Given the description of an element on the screen output the (x, y) to click on. 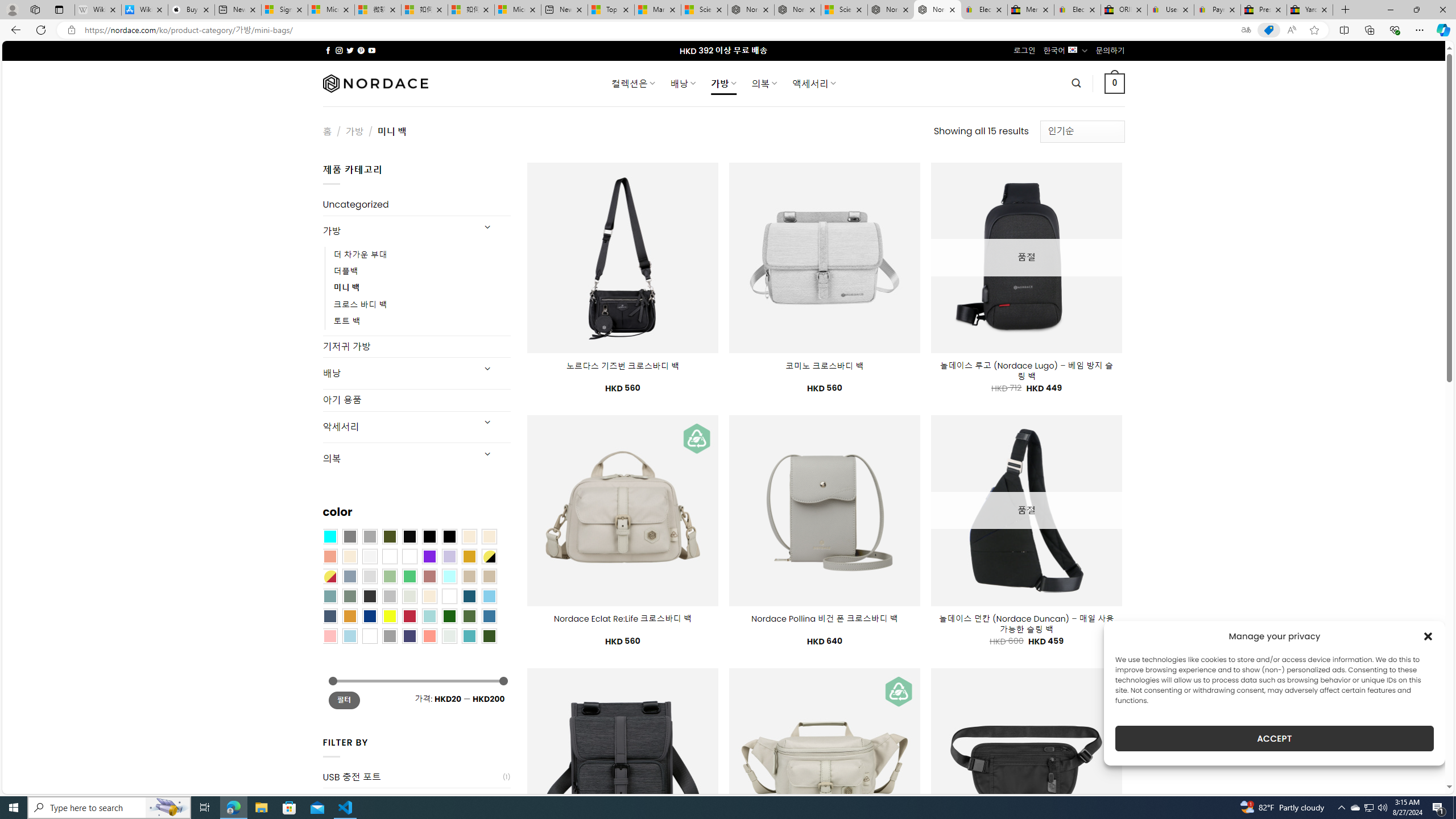
Uncategorized (416, 204)
Microsoft Services Agreement (330, 9)
